Given the description of an element on the screen output the (x, y) to click on. 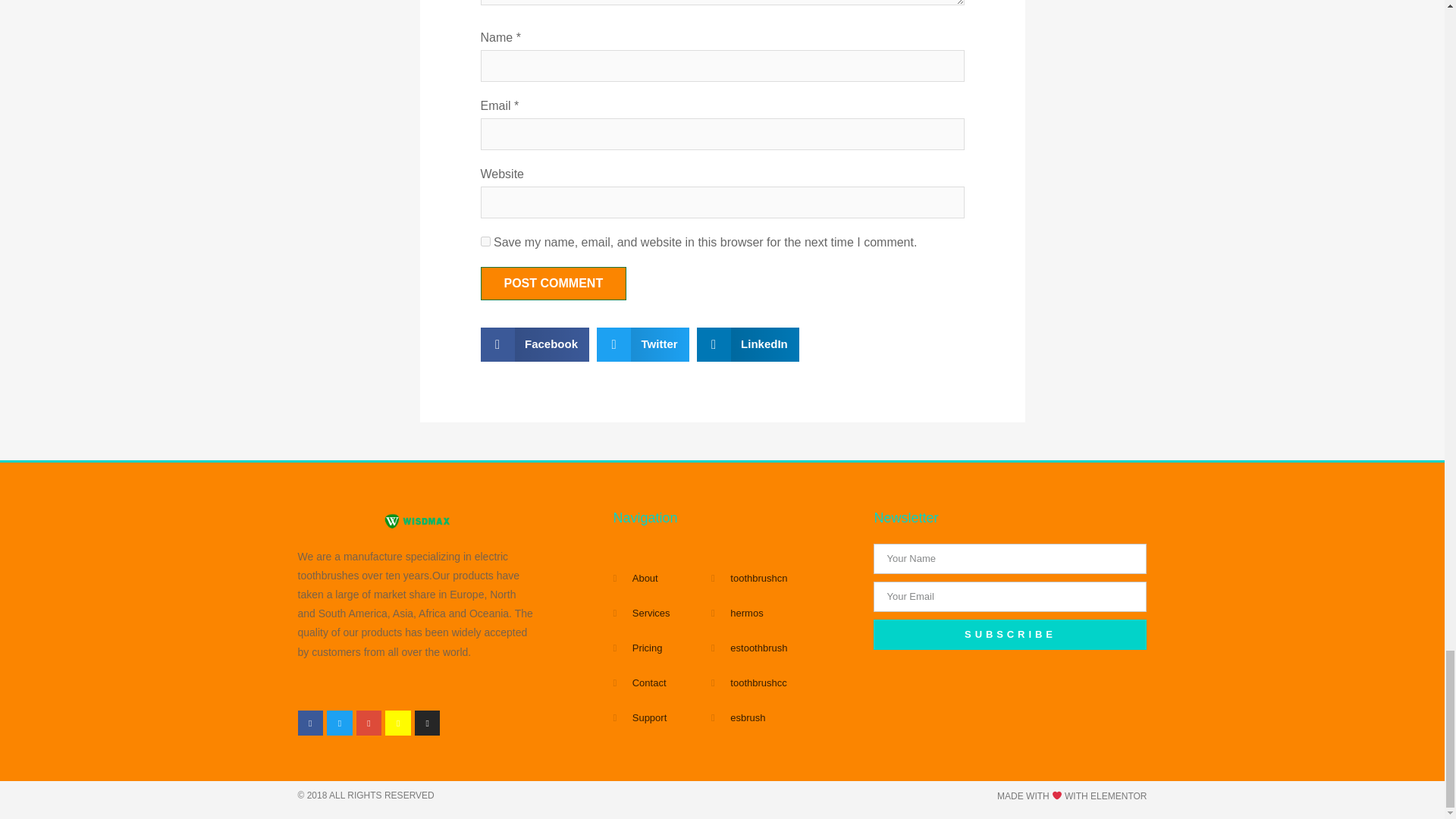
Post Comment (553, 283)
Post Comment (553, 283)
toothbrushcn (785, 578)
hermos (785, 613)
estoothbrush (785, 648)
yes (485, 241)
toothbrushcc (785, 682)
SUBSCRIBE (1010, 634)
esbrush (785, 717)
